Given the description of an element on the screen output the (x, y) to click on. 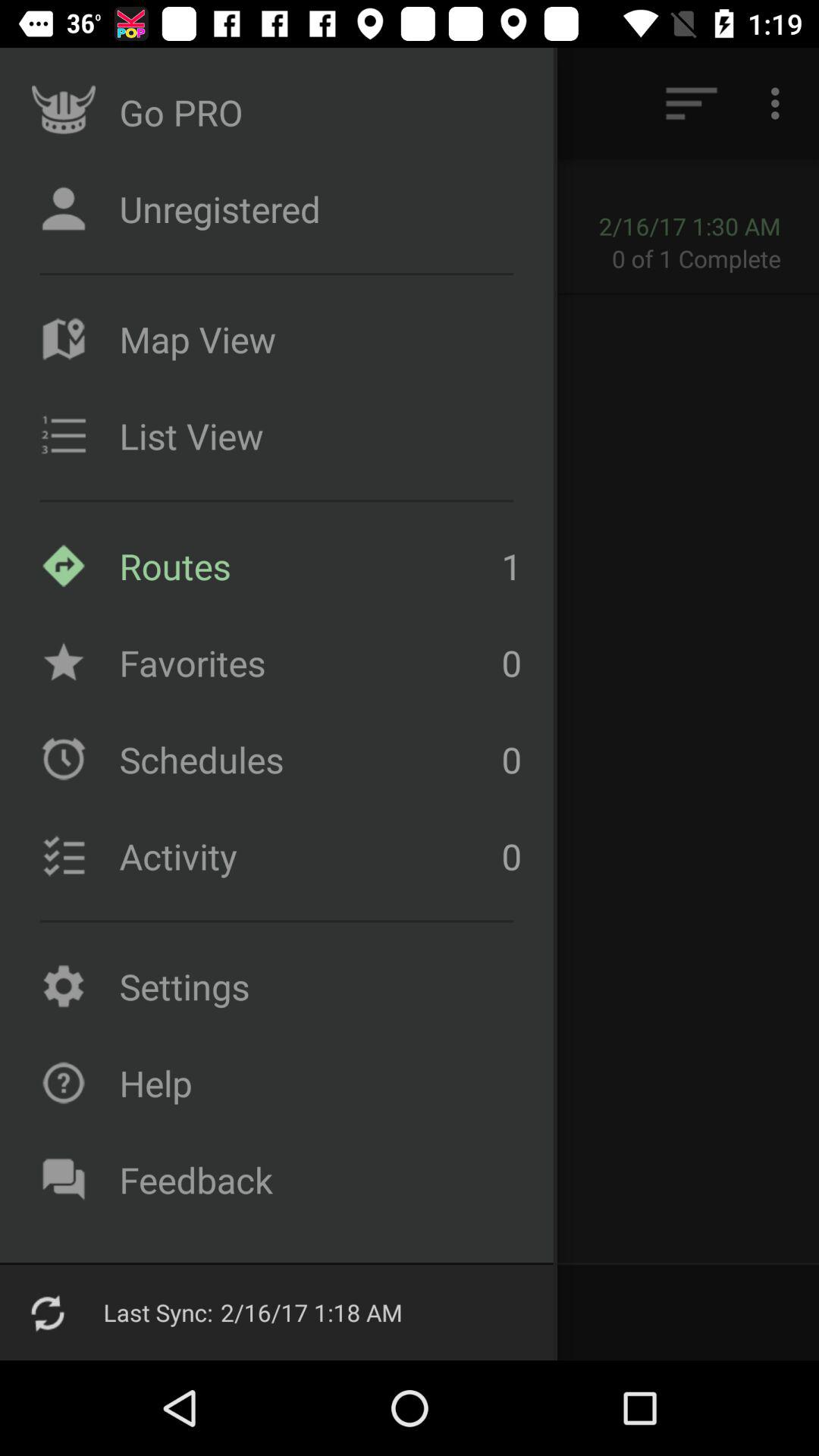
press icon below the favorites icon (306, 759)
